Given the description of an element on the screen output the (x, y) to click on. 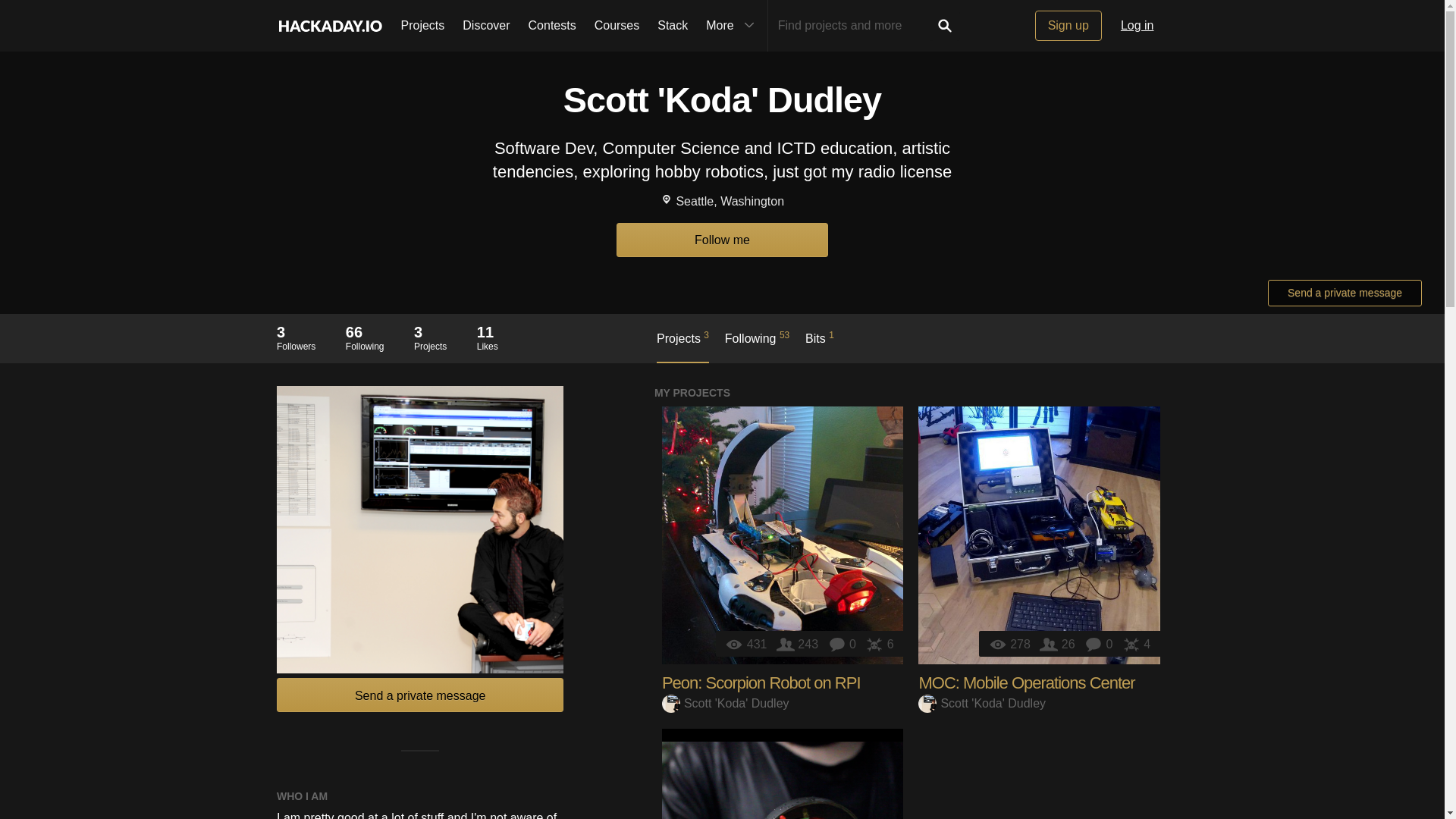
Two characters minimum (853, 25)
Likes (878, 644)
Likes (1136, 644)
Projects (421, 25)
Courses (617, 25)
More (732, 25)
Projects 3 (682, 346)
Send a private message (1345, 293)
MOC: Mobile Operations Center by Scott 'Koda' Dudley (1039, 535)
Following 53 (757, 345)
